Given the description of an element on the screen output the (x, y) to click on. 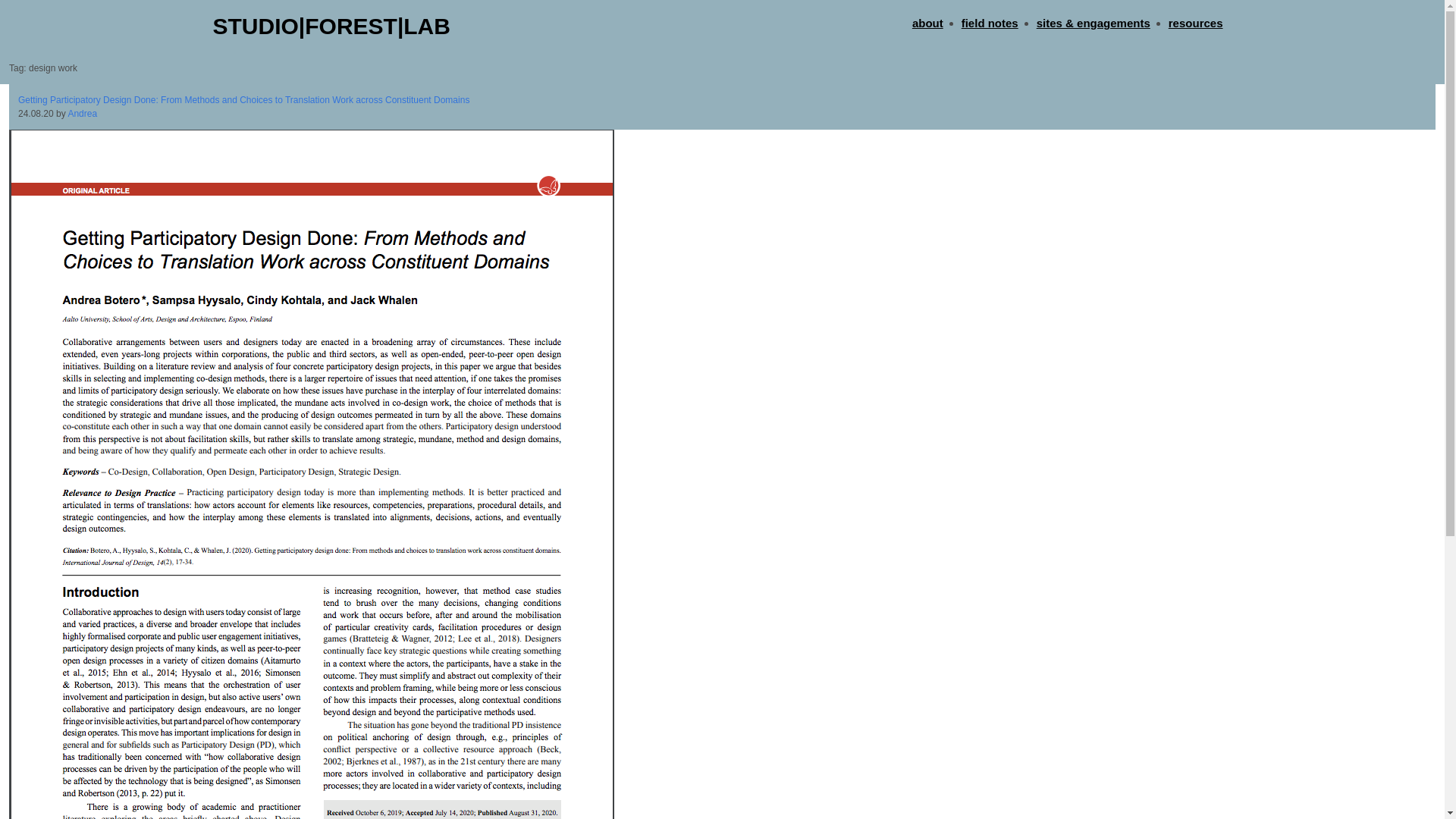
about (927, 23)
field notes (988, 23)
resources (1196, 23)
Andrea (81, 113)
